Given the description of an element on the screen output the (x, y) to click on. 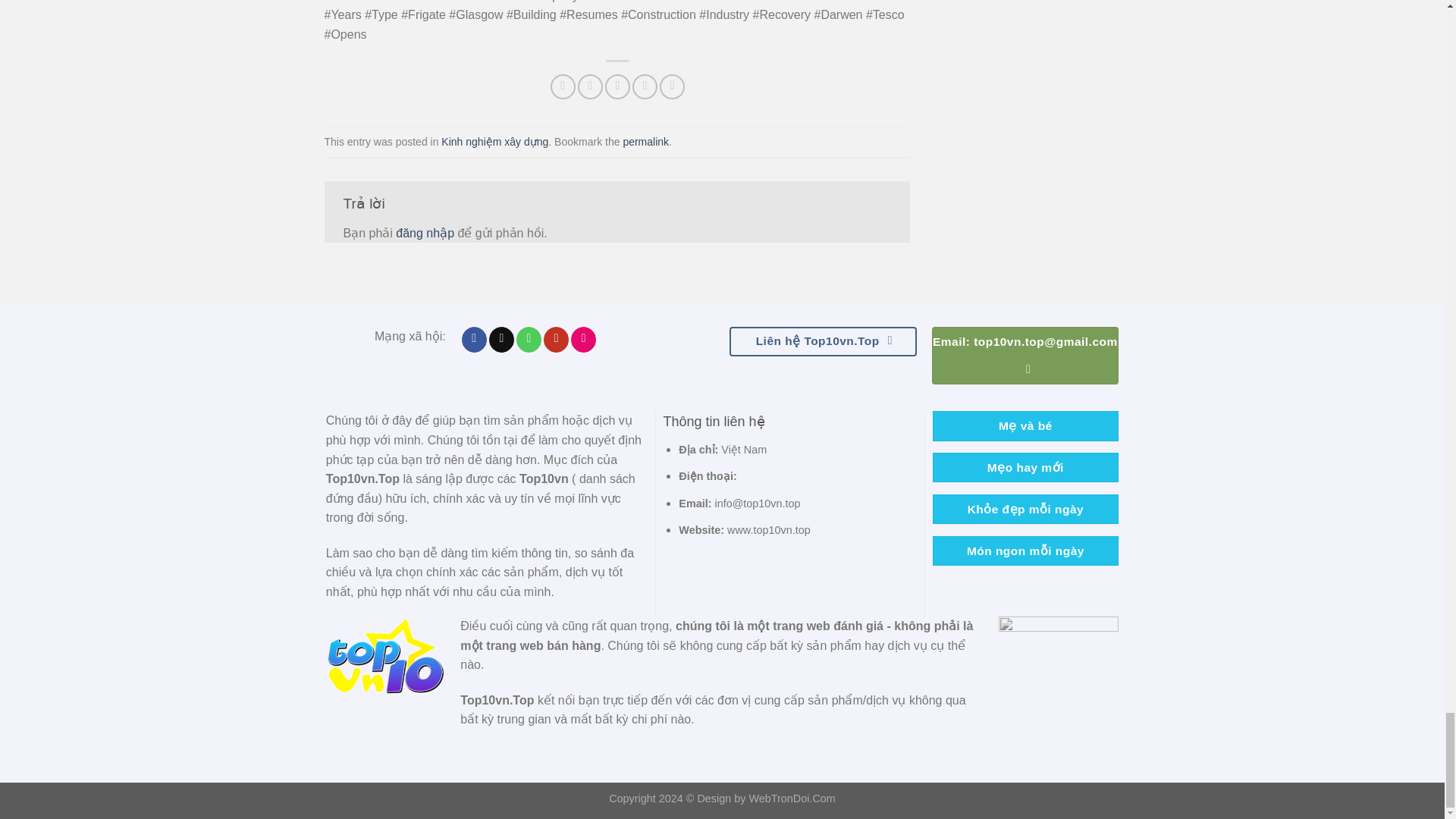
Email to a Friend (617, 86)
Pin on Pinterest (644, 86)
permalink (645, 141)
Share on LinkedIn (671, 86)
Share on Facebook (562, 86)
Share on Twitter (590, 86)
